Given the description of an element on the screen output the (x, y) to click on. 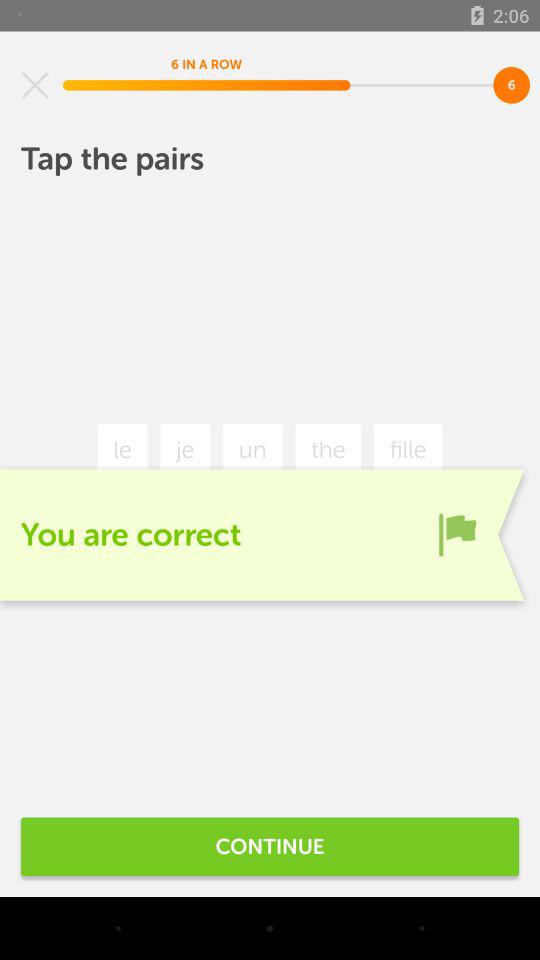
turn on icon next to a (457, 534)
